Given the description of an element on the screen output the (x, y) to click on. 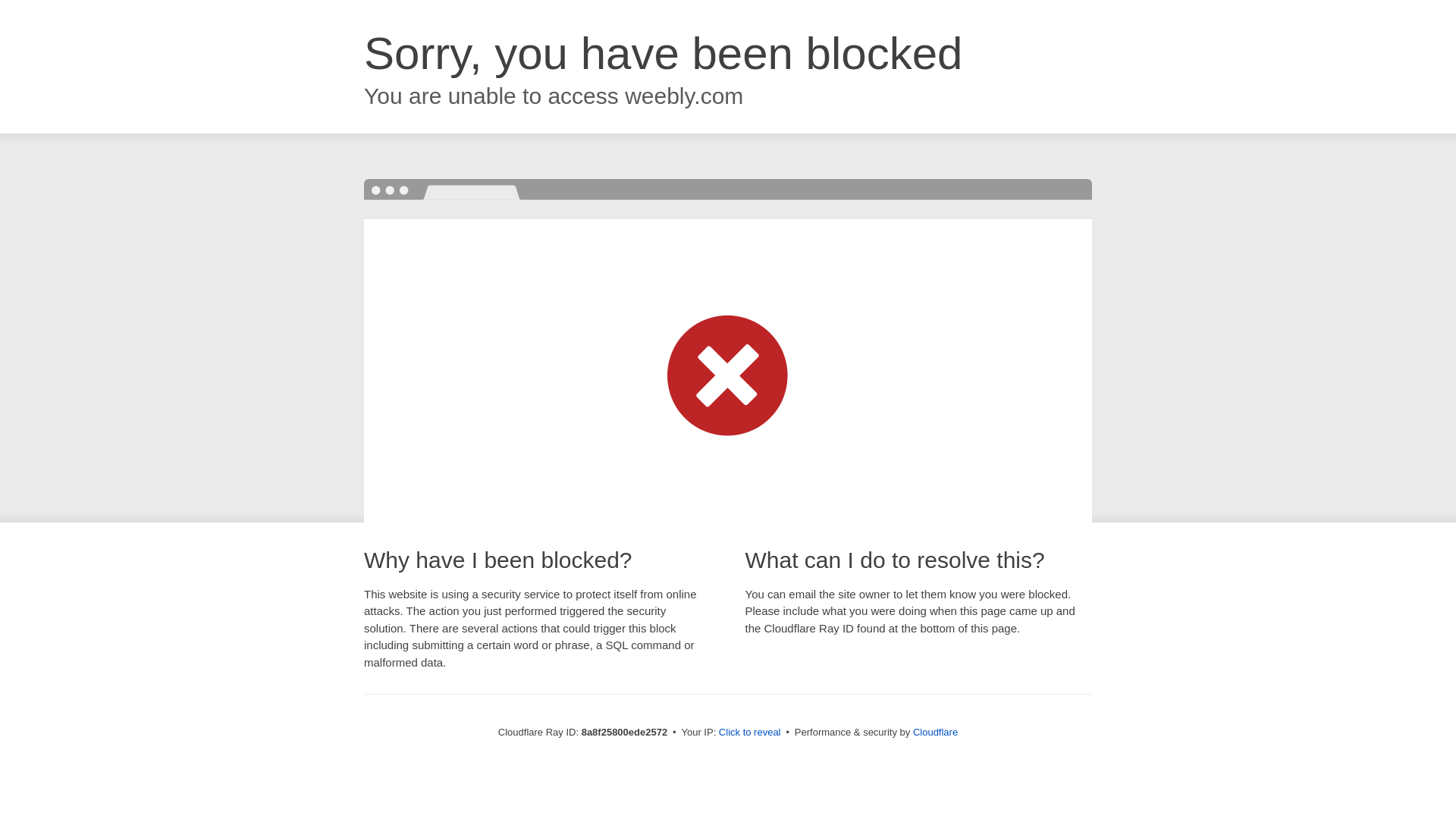
Cloudflare (935, 731)
Click to reveal (749, 732)
